Given the description of an element on the screen output the (x, y) to click on. 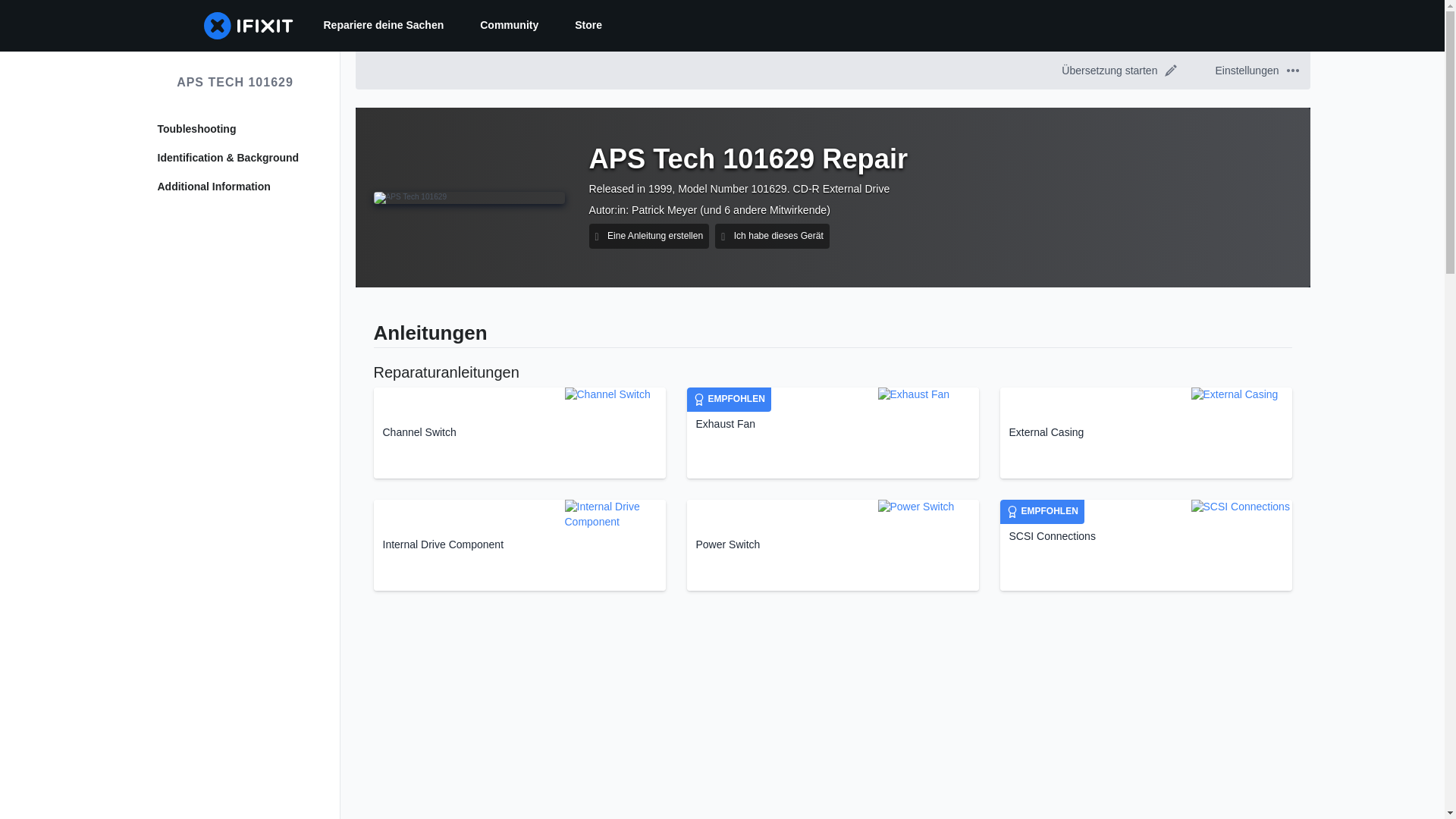
Einstellungen (1253, 70)
Store (1144, 544)
APS TECH 101629 (588, 25)
Empfohlen (832, 432)
Patrick Meyer (234, 82)
Internal Drive Component (1011, 511)
Channel Switch (664, 209)
Einstellungen (518, 544)
Additional Information (518, 432)
Reparaturanleitungen (1291, 70)
Toubleshooting (235, 187)
Community (445, 371)
Neue Seite (235, 129)
